Given the description of an element on the screen output the (x, y) to click on. 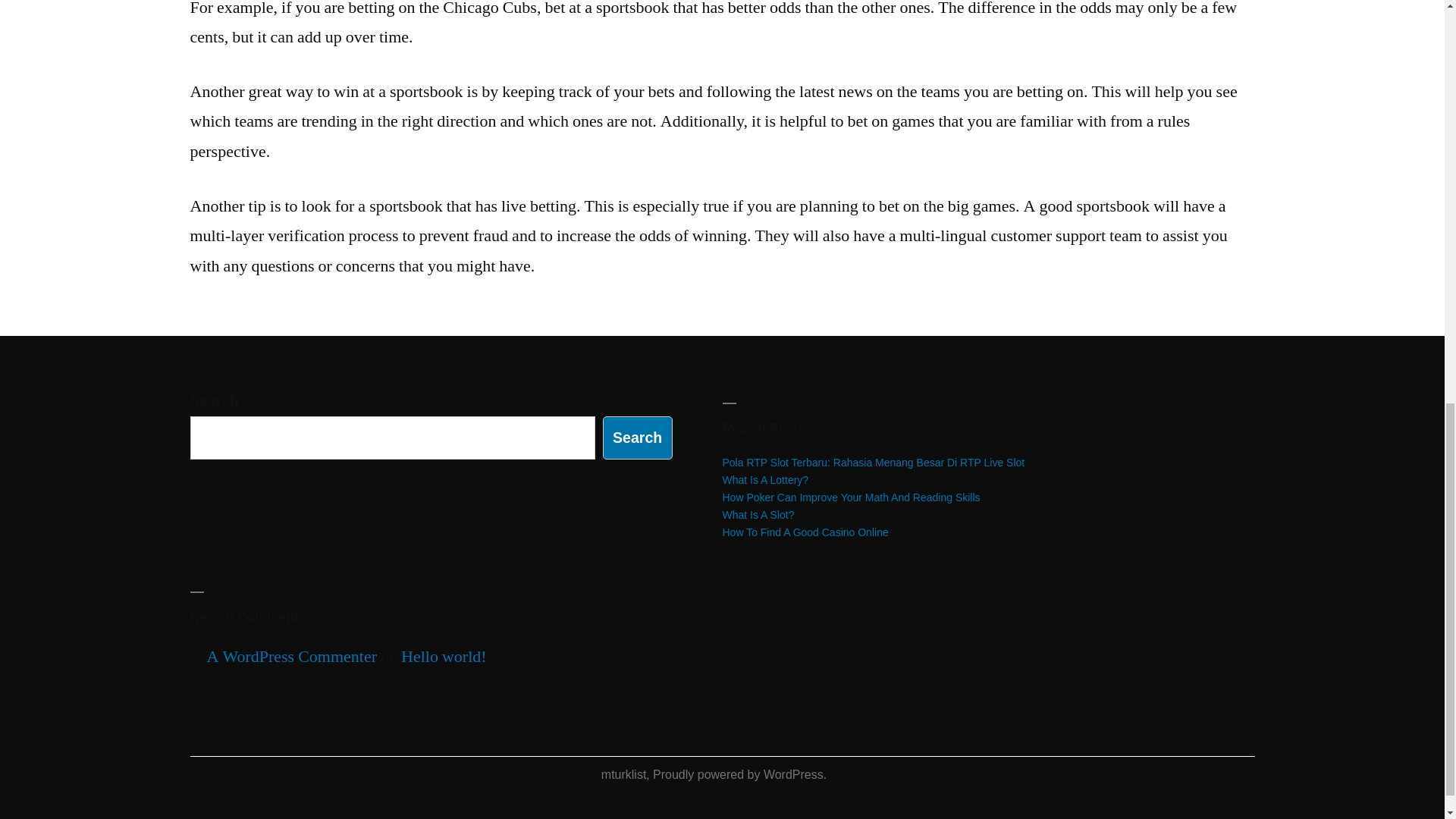
Pola RTP Slot Terbaru: Rahasia Menang Besar Di RTP Live Slot (873, 462)
Hello world! (443, 656)
What Is A Slot? (757, 514)
A WordPress Commenter (291, 656)
How To Find A Good Casino Online (805, 532)
What Is A Lottery? (765, 480)
Search (637, 437)
mturklist (623, 774)
Proudly powered by WordPress. (739, 774)
How Poker Can Improve Your Math And Reading Skills (850, 497)
